Given the description of an element on the screen output the (x, y) to click on. 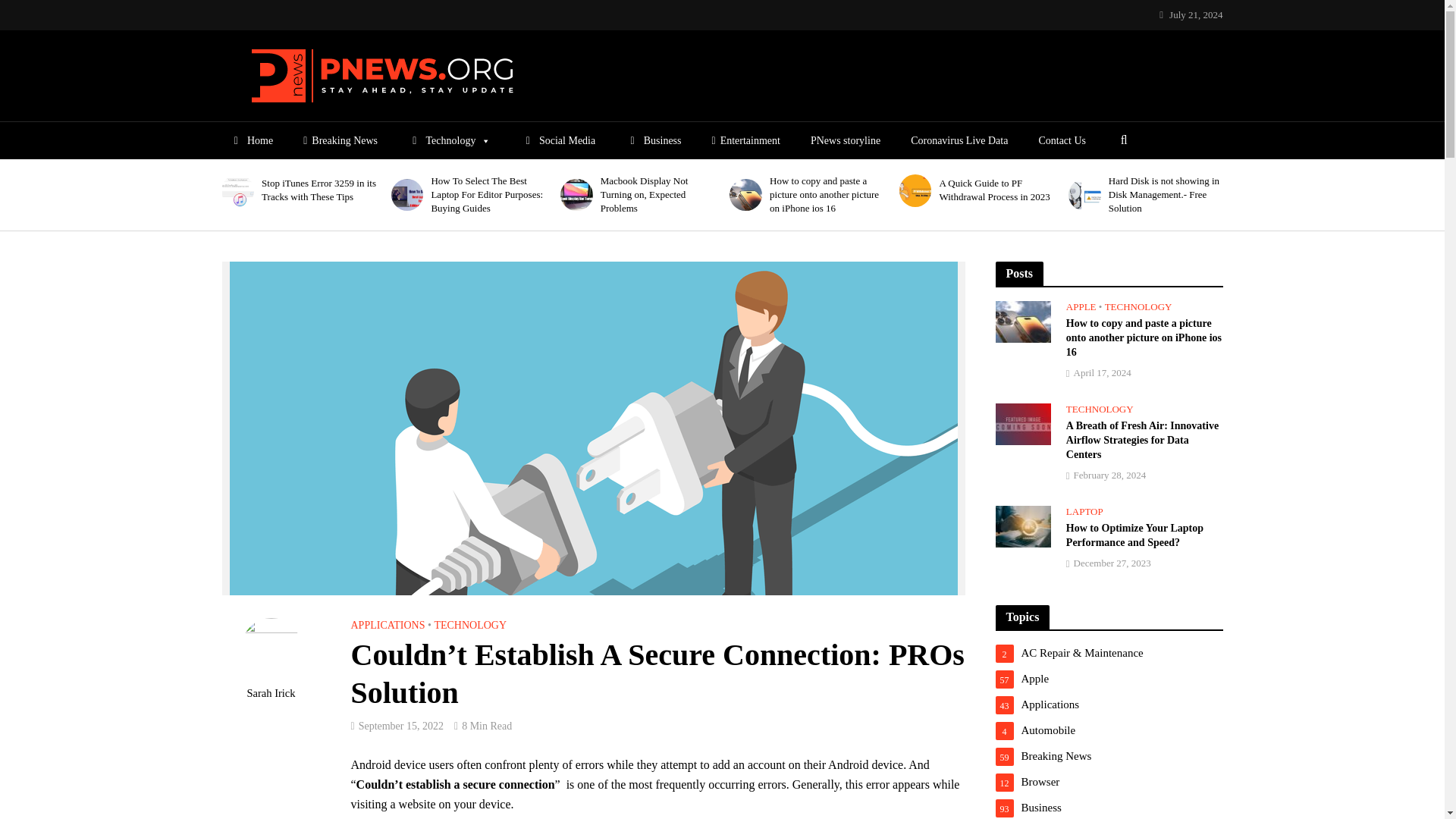
Technology (448, 141)
Home (251, 141)
PNews storyline (845, 141)
Business (652, 141)
Breaking News (340, 141)
Contact Us (1061, 141)
Social Media (557, 141)
Entertainment (745, 141)
Coronavirus Live Data (958, 141)
